Given the description of an element on the screen output the (x, y) to click on. 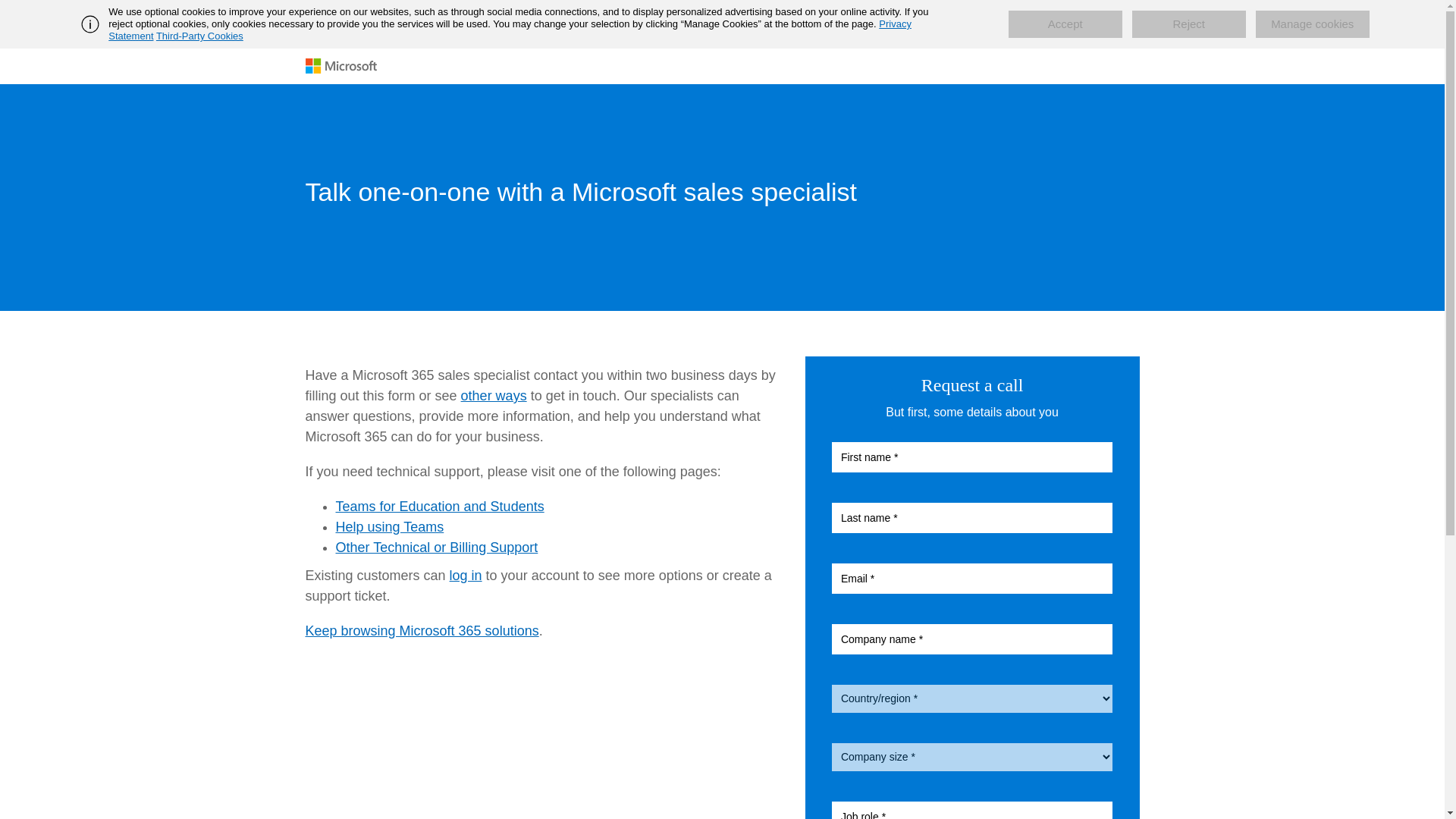
Accept (1065, 23)
Teams for Education and Students (438, 506)
Third-Party Cookies (199, 35)
Help using Teams (389, 526)
Manage cookies (1312, 23)
other ways (494, 395)
Reject (1189, 23)
log in (465, 575)
Keep browsing Microsoft 365 solutions (421, 630)
Other Technical or Billing Support (435, 547)
